Given the description of an element on the screen output the (x, y) to click on. 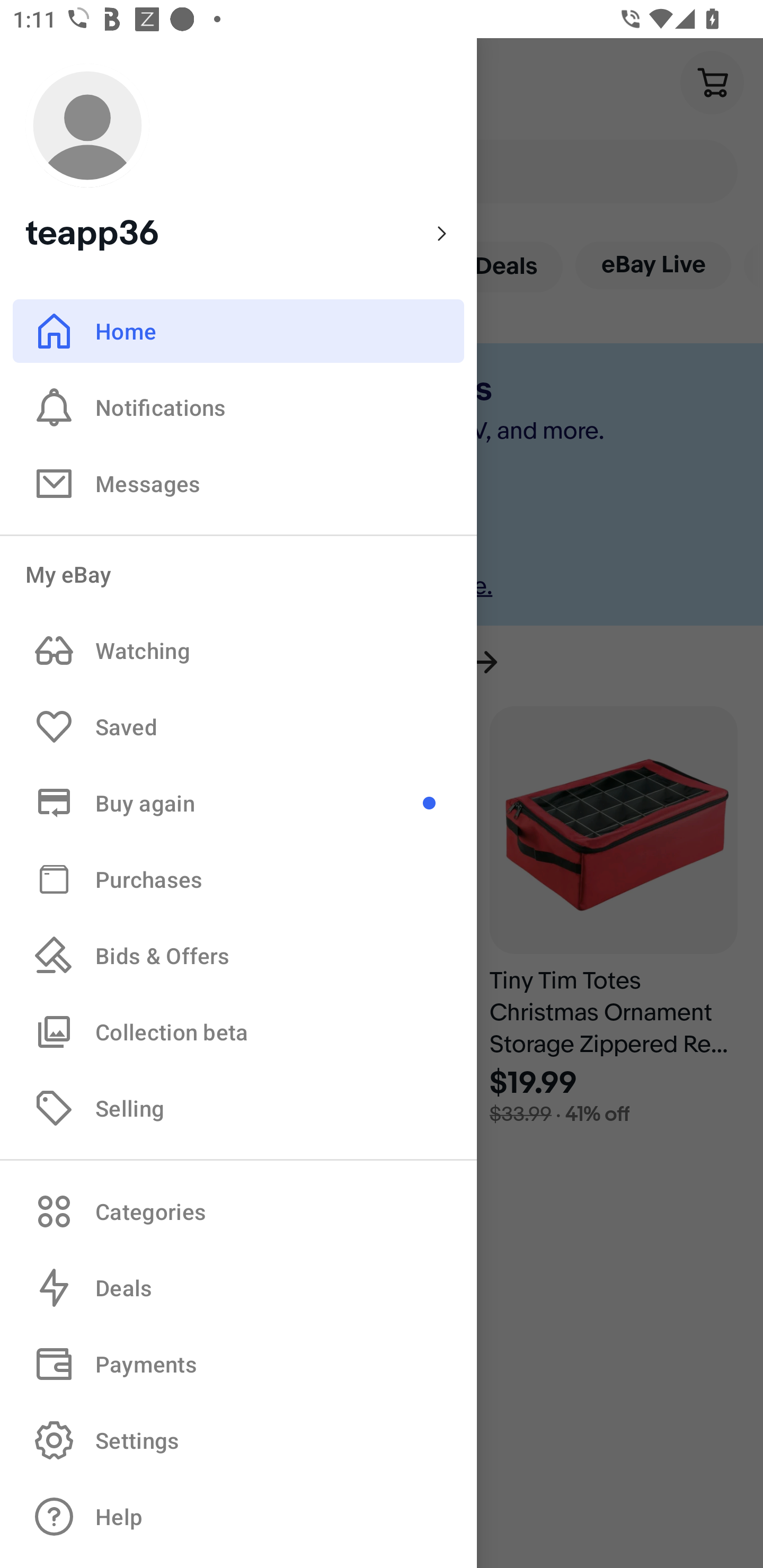
Home (238, 330)
Notifications (238, 406)
Messages (238, 483)
Watching (238, 650)
Saved (238, 726)
Buy again Is new feature (238, 802)
Purchases (238, 878)
Bids & Offers (238, 955)
Collection beta (238, 1031)
Selling (238, 1107)
Categories (238, 1210)
Deals (238, 1287)
Payments (238, 1363)
Settings (238, 1439)
Help (238, 1516)
